Given the description of an element on the screen output the (x, y) to click on. 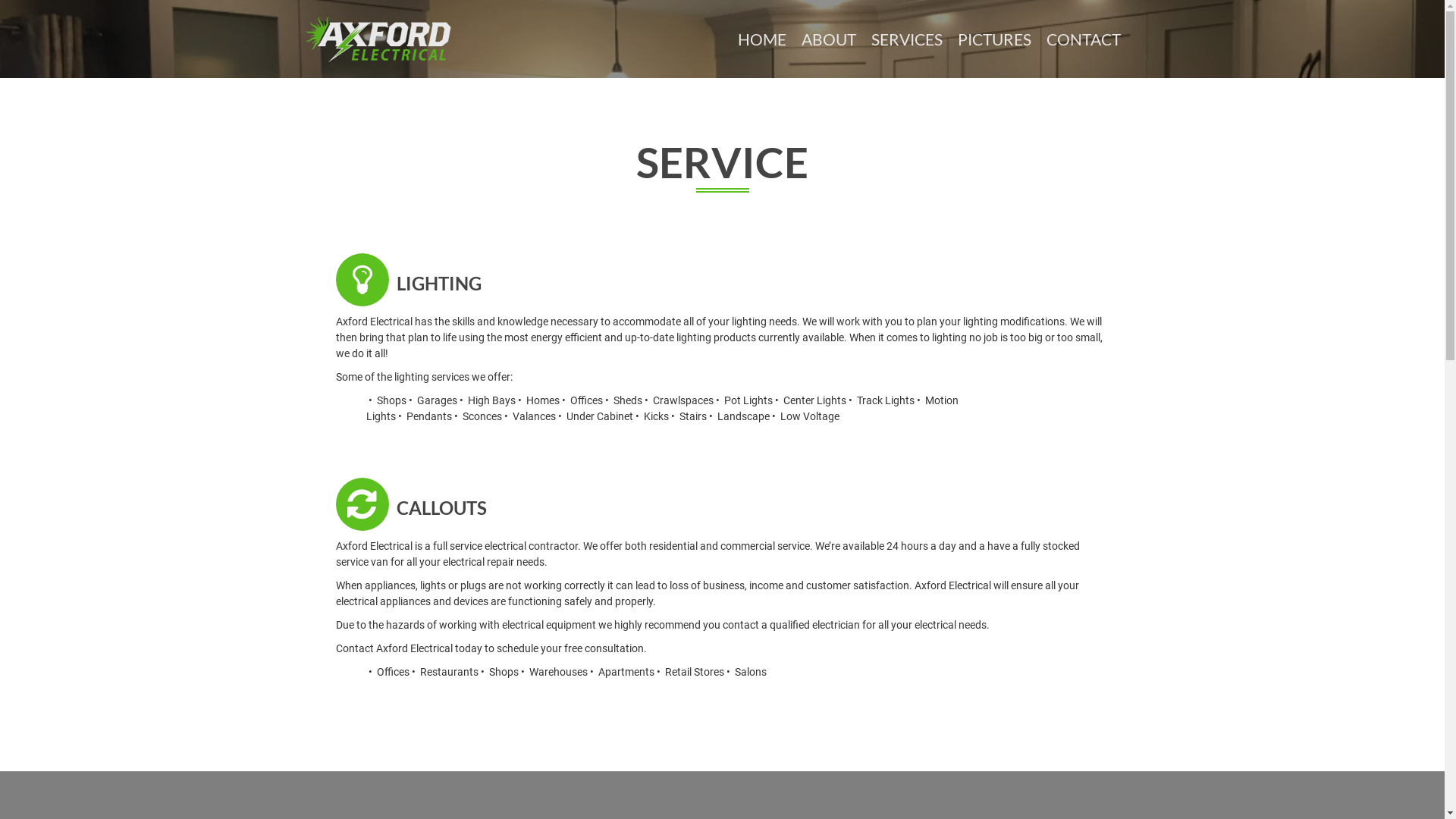
SERVICES Element type: text (905, 39)
ABOUT Element type: text (827, 39)
CONTACT Element type: text (1083, 39)
Axford Electrical Nanaimo and Area Element type: hover (377, 37)
PICTURES Element type: text (993, 39)
HOME Element type: text (761, 39)
Skip to content Element type: text (0, 0)
